Given the description of an element on the screen output the (x, y) to click on. 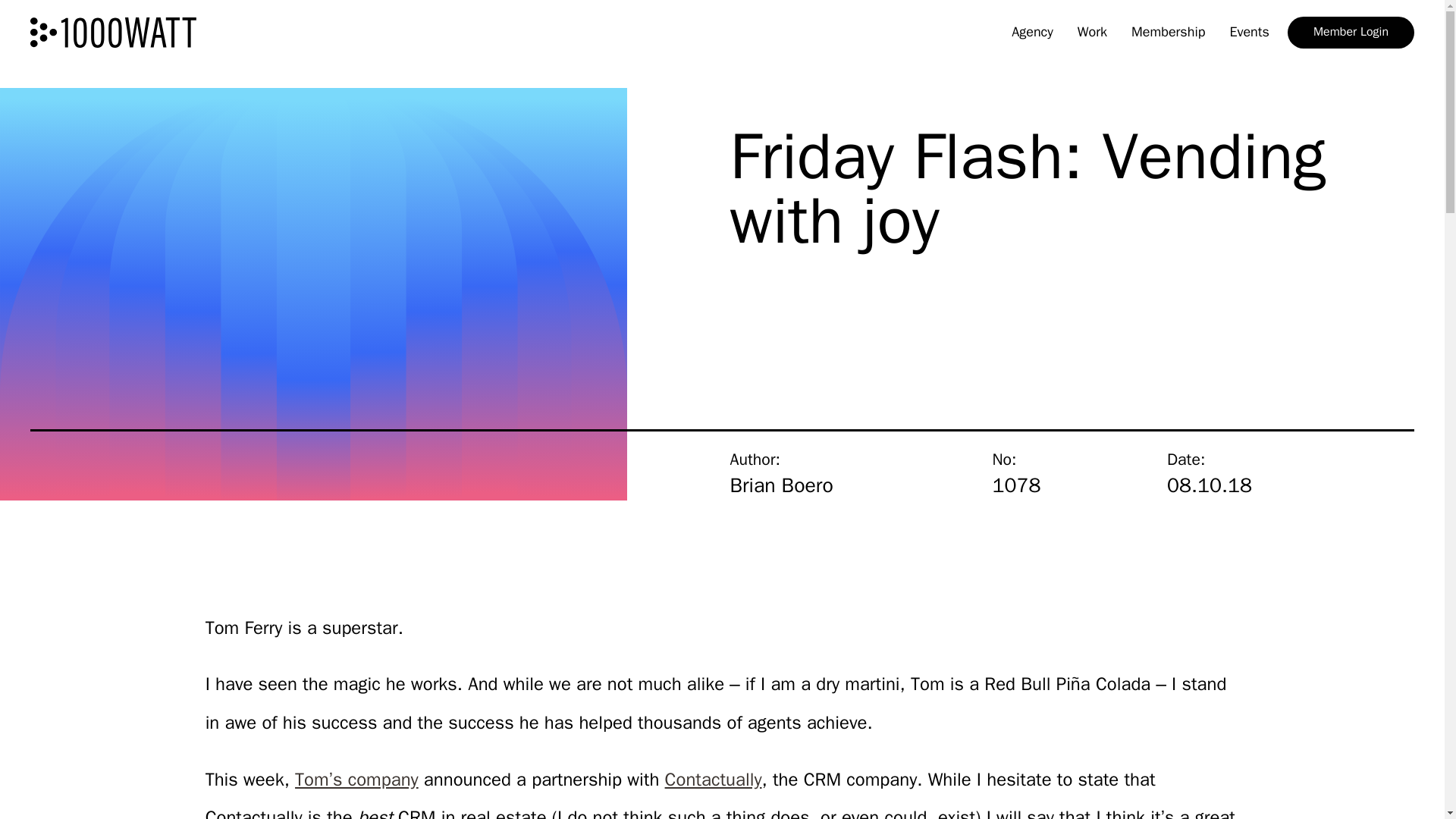
Member Login (1350, 31)
Work (1092, 32)
Subscribe (797, 601)
Agency (1032, 32)
Contactually (713, 779)
Events (1249, 32)
Membership (1168, 32)
